Given the description of an element on the screen output the (x, y) to click on. 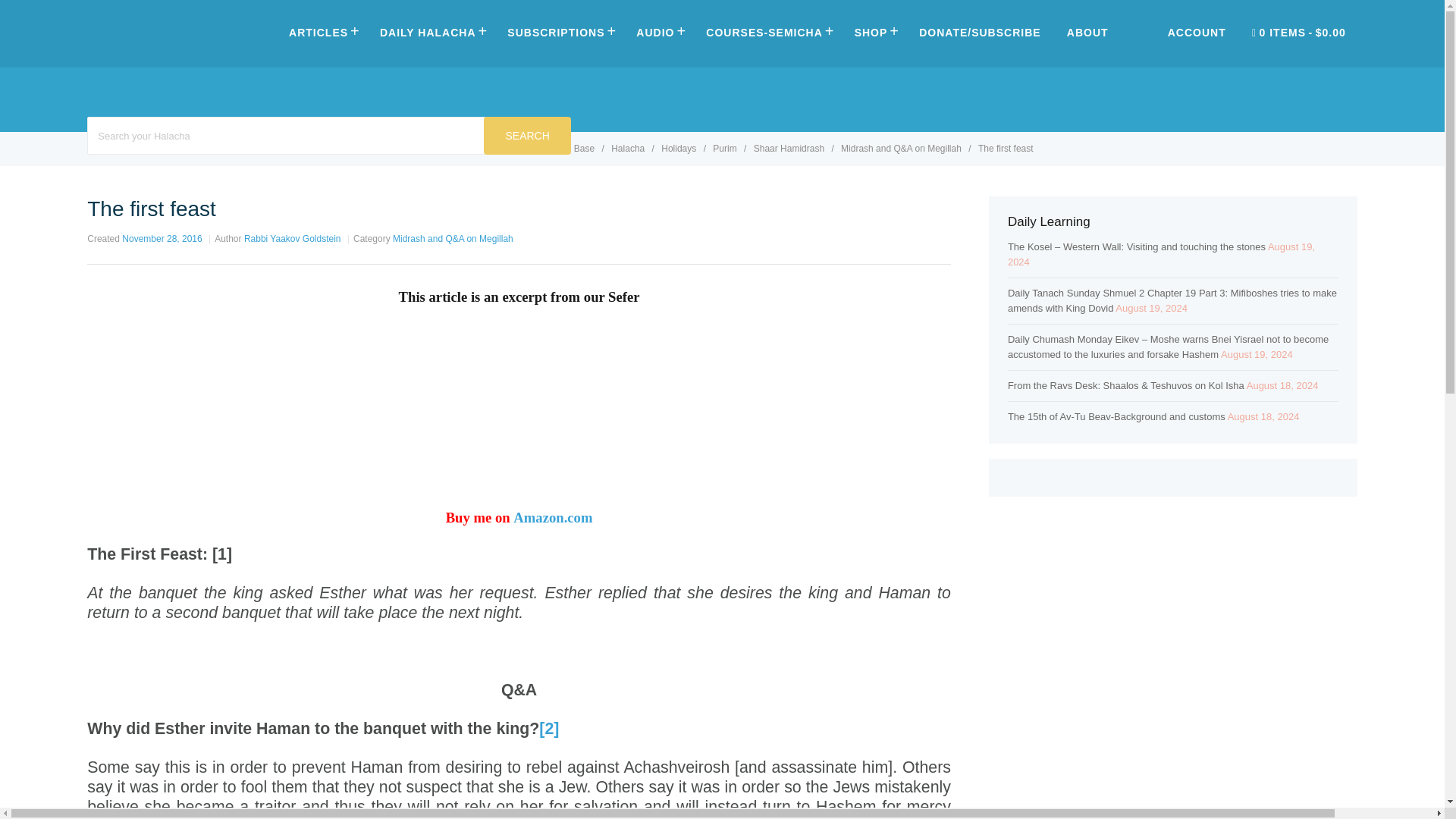
The first feast (1005, 148)
View all posts in Holidays (679, 148)
Home (498, 148)
Start shopping (1298, 32)
Rabbi Yaakov Goldstein (292, 238)
View all posts in Shaar Hamidrash (790, 148)
Knowledge Base (560, 148)
ARTICLES (321, 31)
View all posts in Purim (726, 148)
View all posts in Halacha (628, 148)
